Given the description of an element on the screen output the (x, y) to click on. 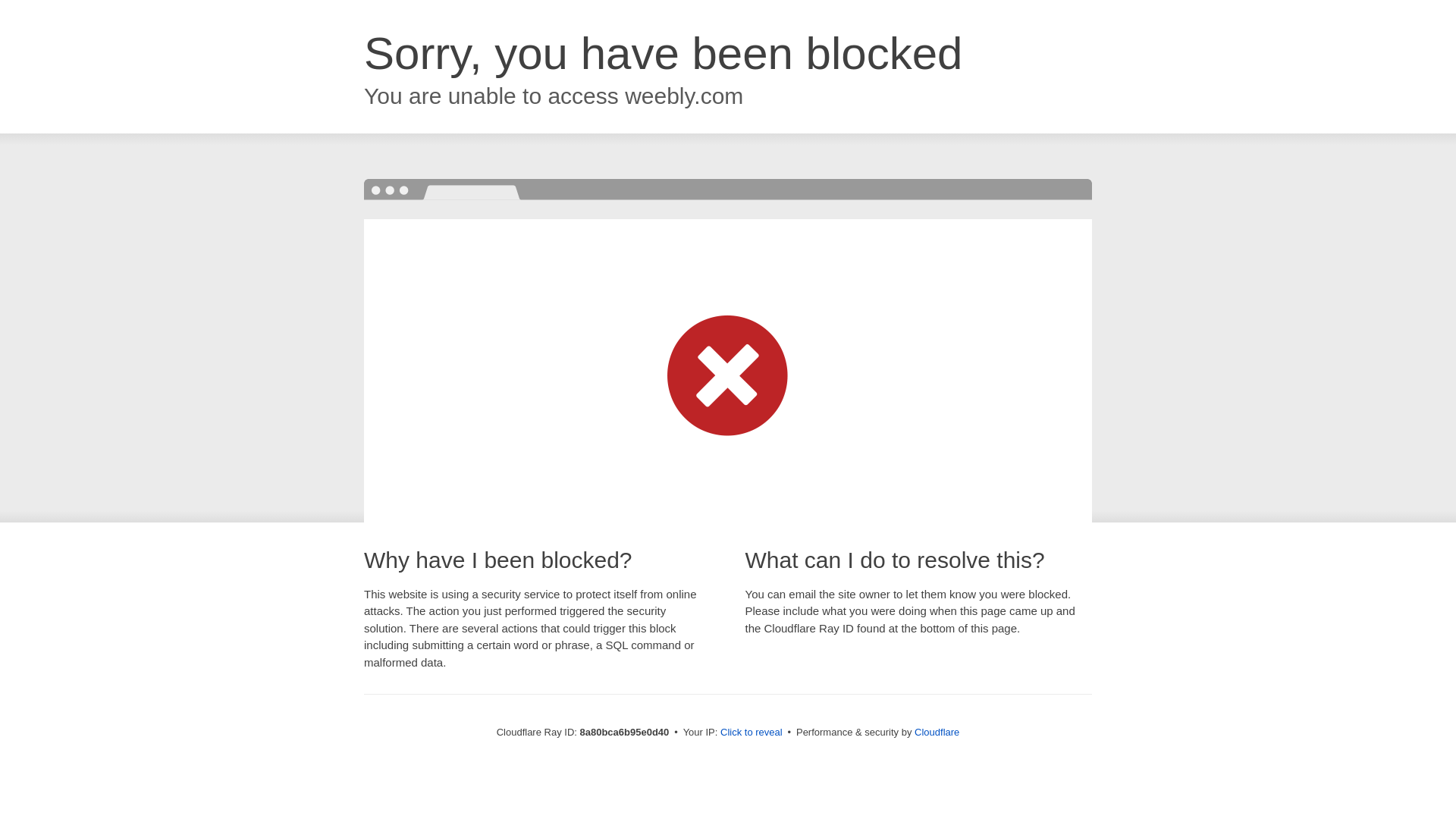
Click to reveal (751, 732)
Cloudflare (936, 731)
